Given the description of an element on the screen output the (x, y) to click on. 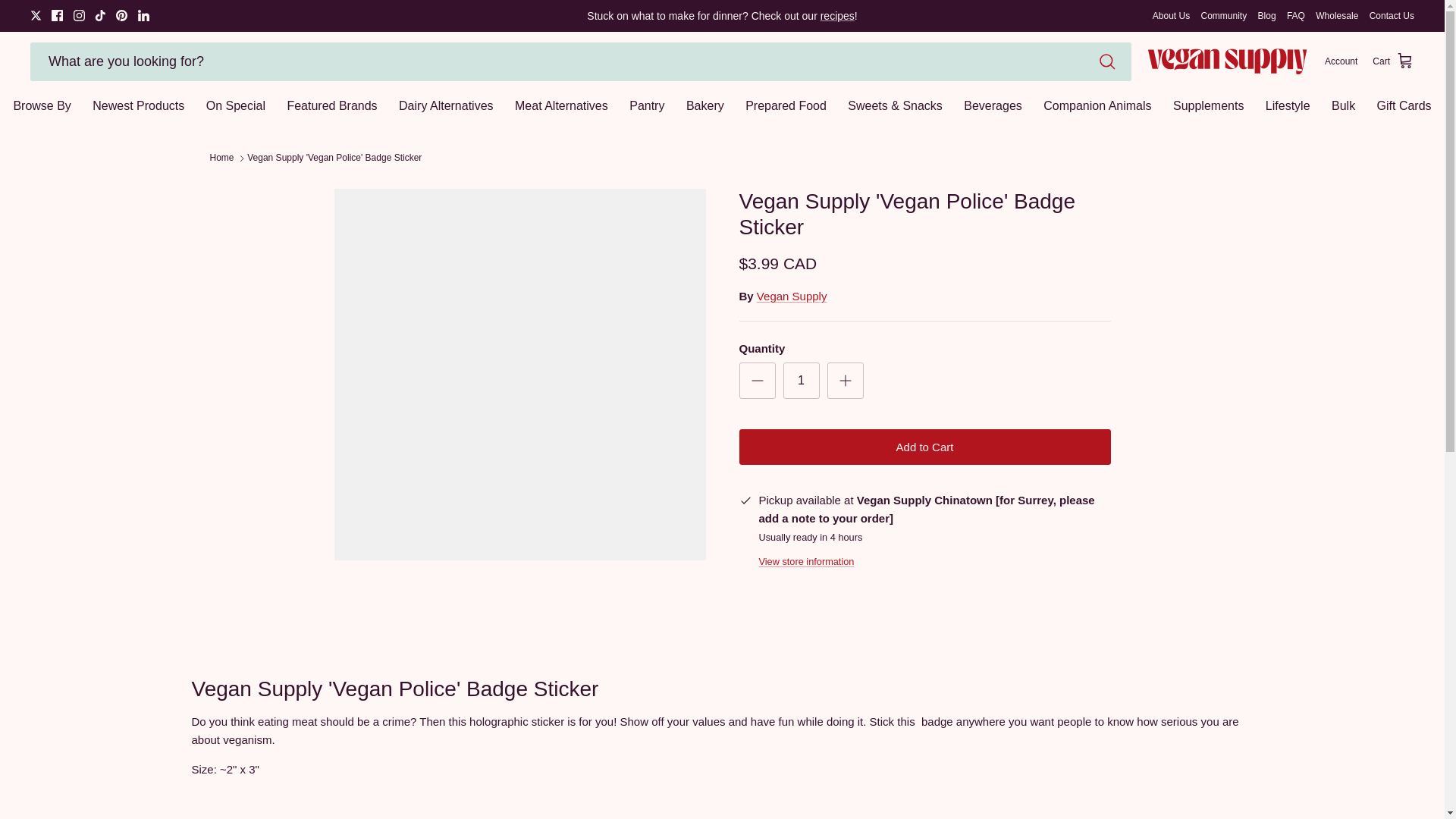
About Us (1171, 15)
Wholesale (1337, 15)
recipes (837, 15)
Contact Us (1391, 15)
Pinterest (122, 15)
Instagram (79, 15)
Pinterest (122, 15)
Plus (844, 380)
Recipes (837, 15)
Facebook (56, 15)
Account (1340, 61)
Minus (756, 380)
Vegan Supply (1227, 61)
Instagram (79, 15)
Community (1224, 15)
